Given the description of an element on the screen output the (x, y) to click on. 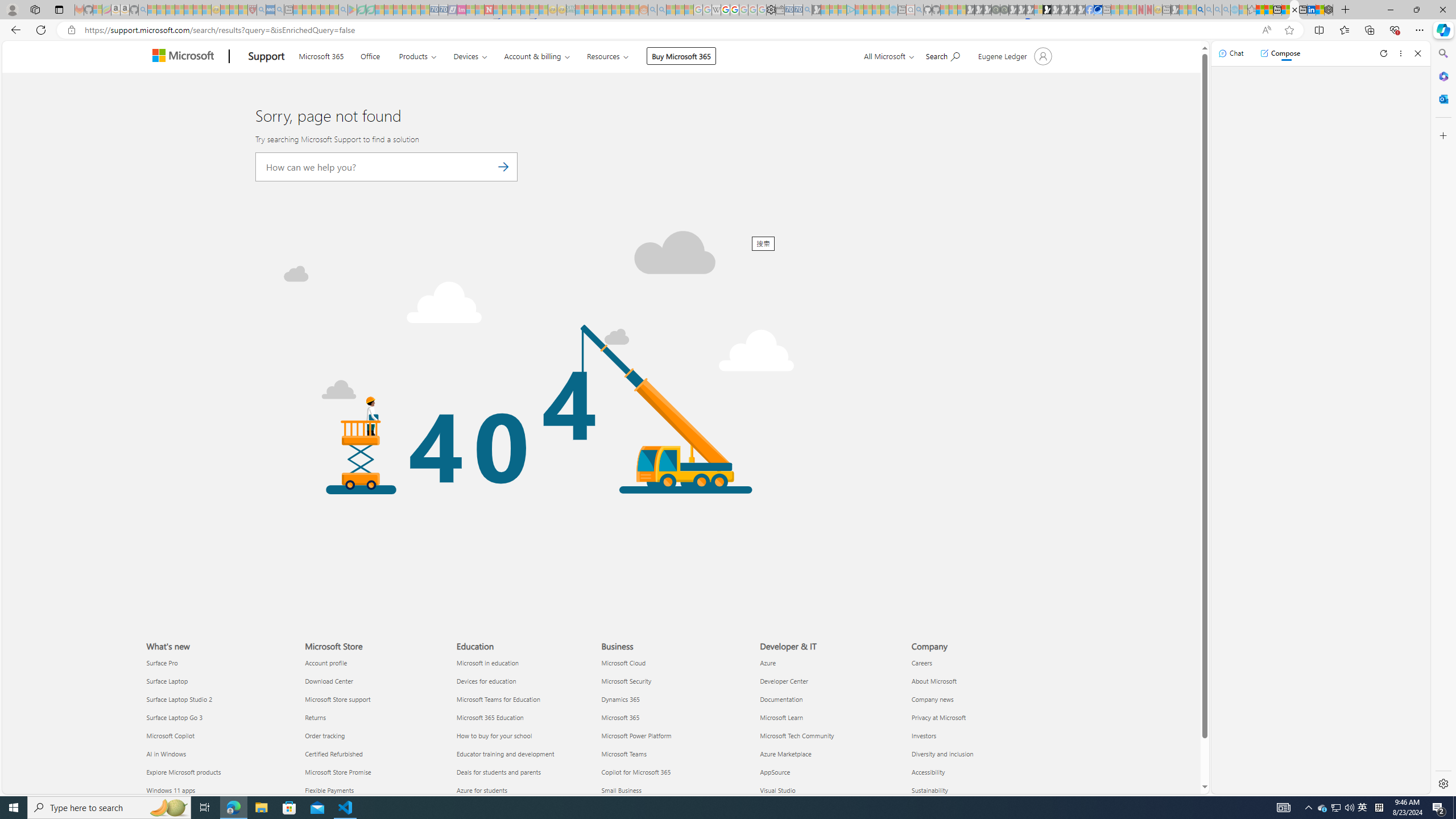
Devices for education Education (485, 680)
Privacy Help Center - Policies Help (725, 9)
Surface Pro What's new (161, 662)
Bluey: Let's Play! - Apps on Google Play - Sleeping (352, 9)
Educator training and development (525, 753)
Download Center (373, 680)
AI in Windows (218, 753)
Developer Center (829, 680)
